Given the description of an element on the screen output the (x, y) to click on. 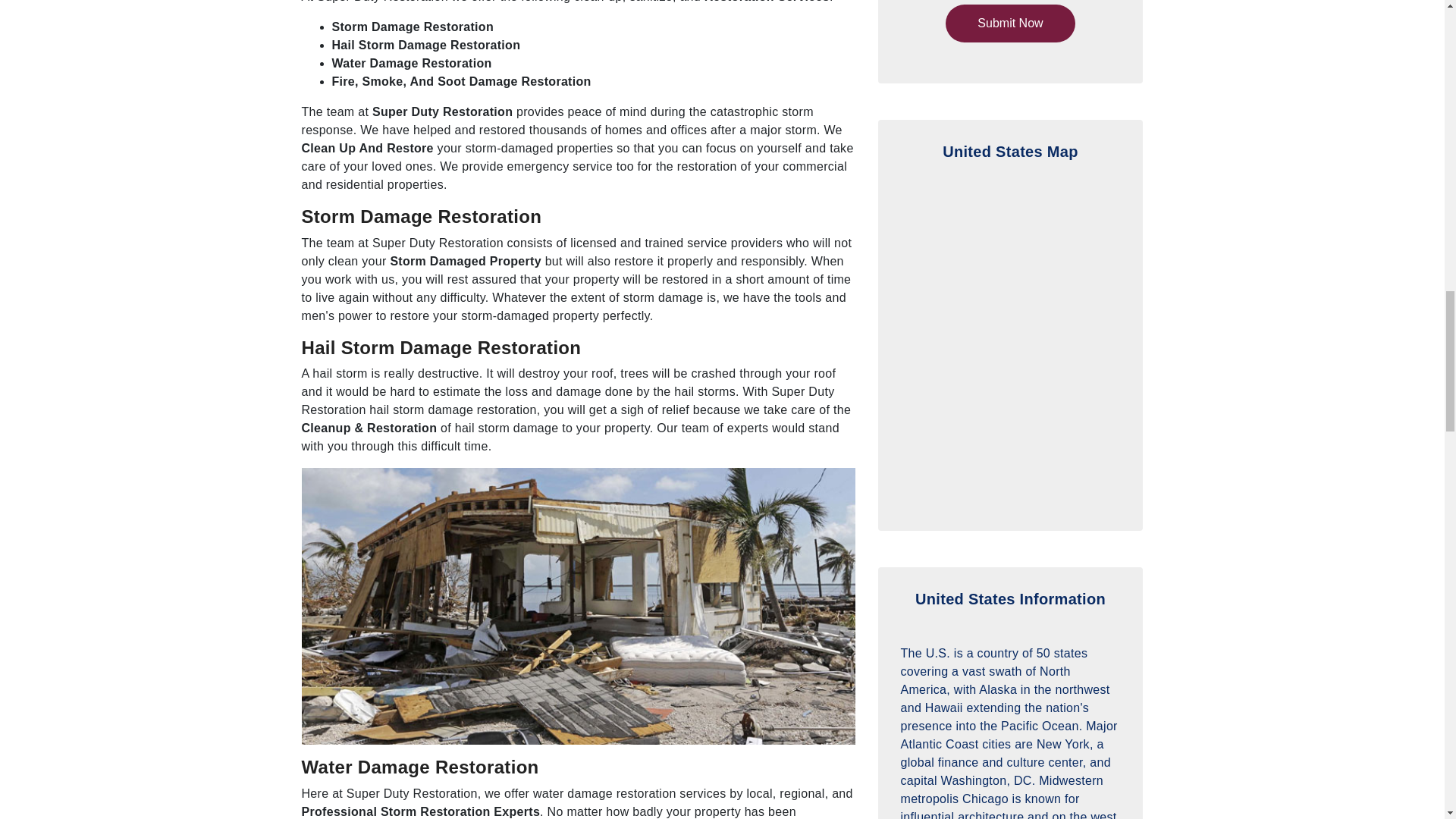
Submit Now (1009, 23)
